Given the description of an element on the screen output the (x, y) to click on. 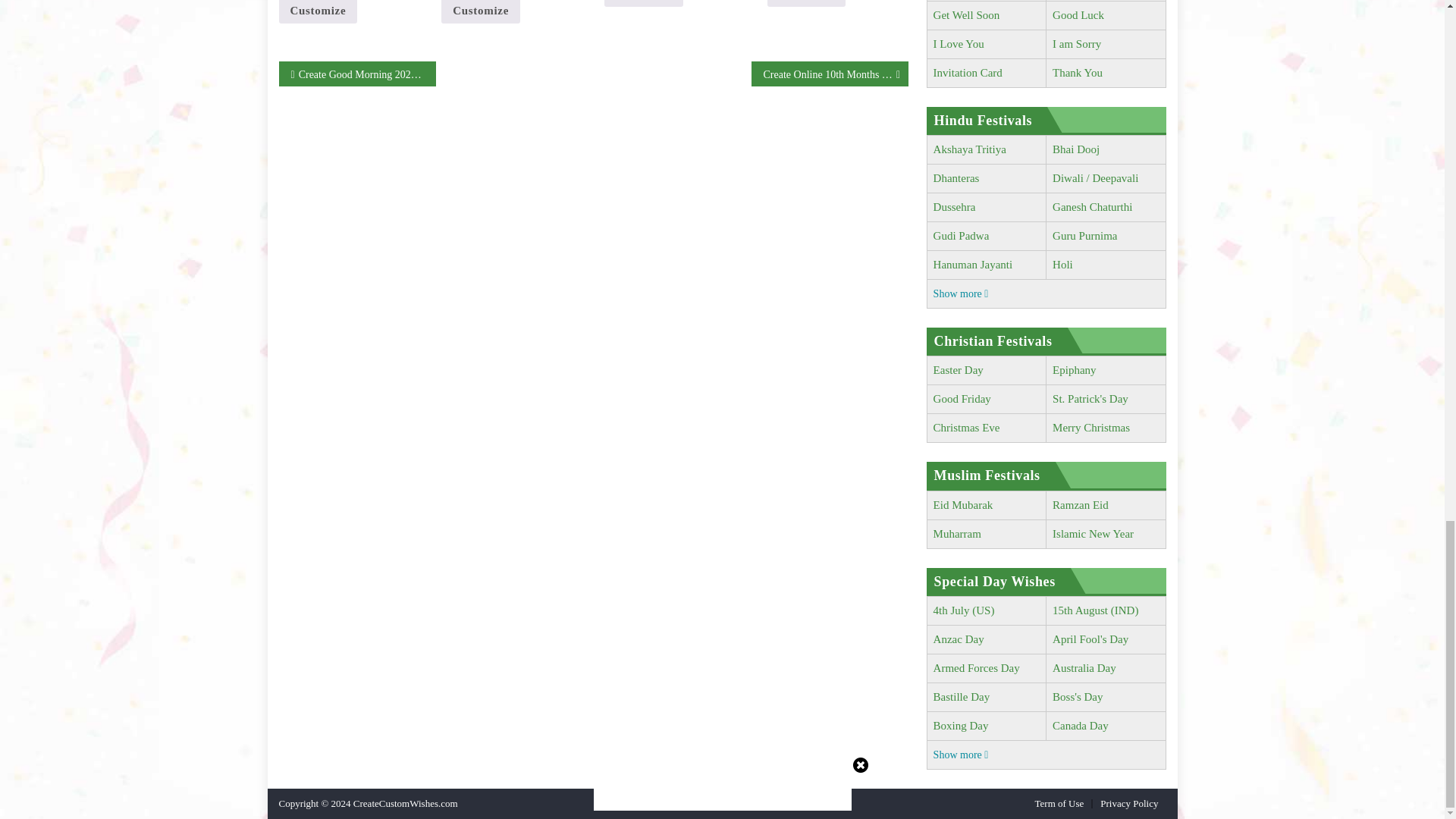
Invitation Card (968, 72)
I am Sorry (1076, 43)
Gudi Padwa (961, 235)
I Love You (958, 43)
Happy Ganesh Chaturthi (1092, 206)
Hanuman Jayanti (973, 264)
Bhai Dooj (1075, 149)
Guru Purnima (1084, 235)
Akshaya Tritiya (969, 149)
Holi (1062, 264)
Dhanteras (956, 177)
Thank You (1077, 72)
Get Well Soon (966, 15)
Dussehra (954, 206)
